Given the description of an element on the screen output the (x, y) to click on. 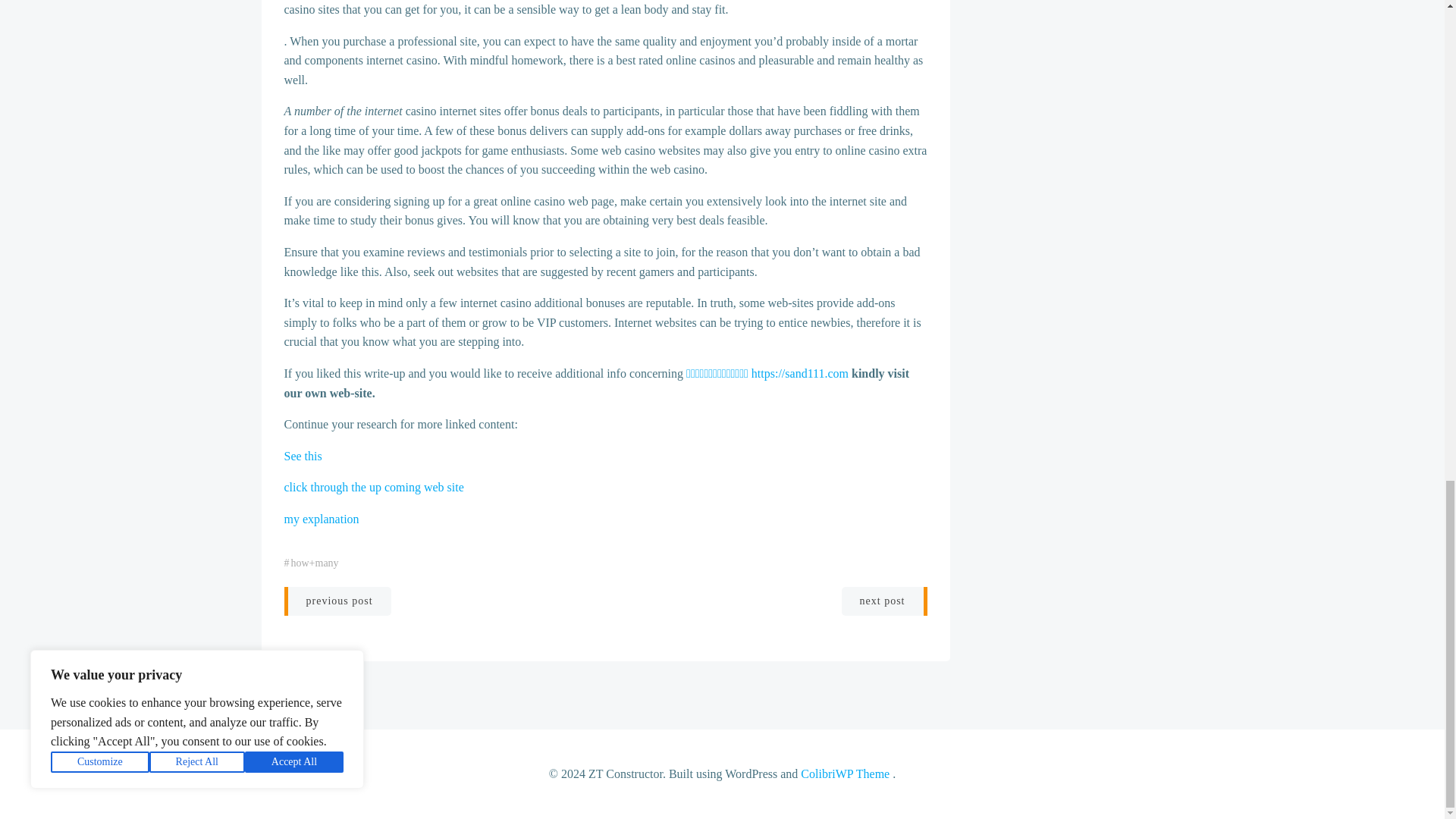
my explanation (320, 518)
See this (302, 455)
next post (884, 601)
previous post (336, 601)
click through the up coming web site (373, 486)
